Given the description of an element on the screen output the (x, y) to click on. 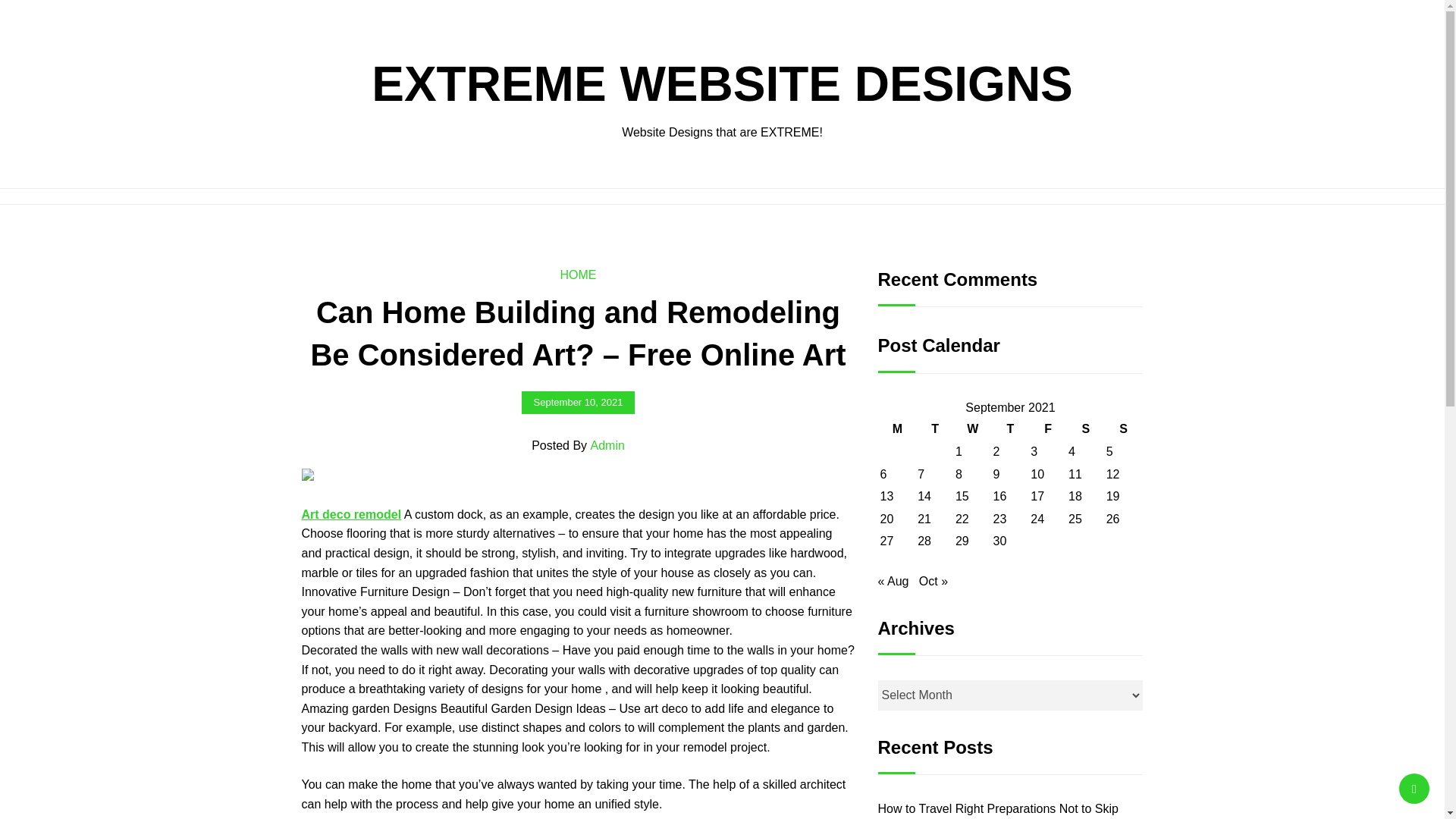
Friday (1047, 428)
Tuesday (935, 428)
21 (924, 518)
13 (886, 495)
22 (962, 518)
10 (1036, 473)
Posted By Admin (577, 445)
Wednesday (973, 428)
23 (999, 518)
16 (999, 495)
Thursday (1010, 428)
Saturday (1085, 428)
EXTREME WEBSITE DESIGNS (722, 83)
15 (962, 495)
HOME (577, 274)
